Given the description of an element on the screen output the (x, y) to click on. 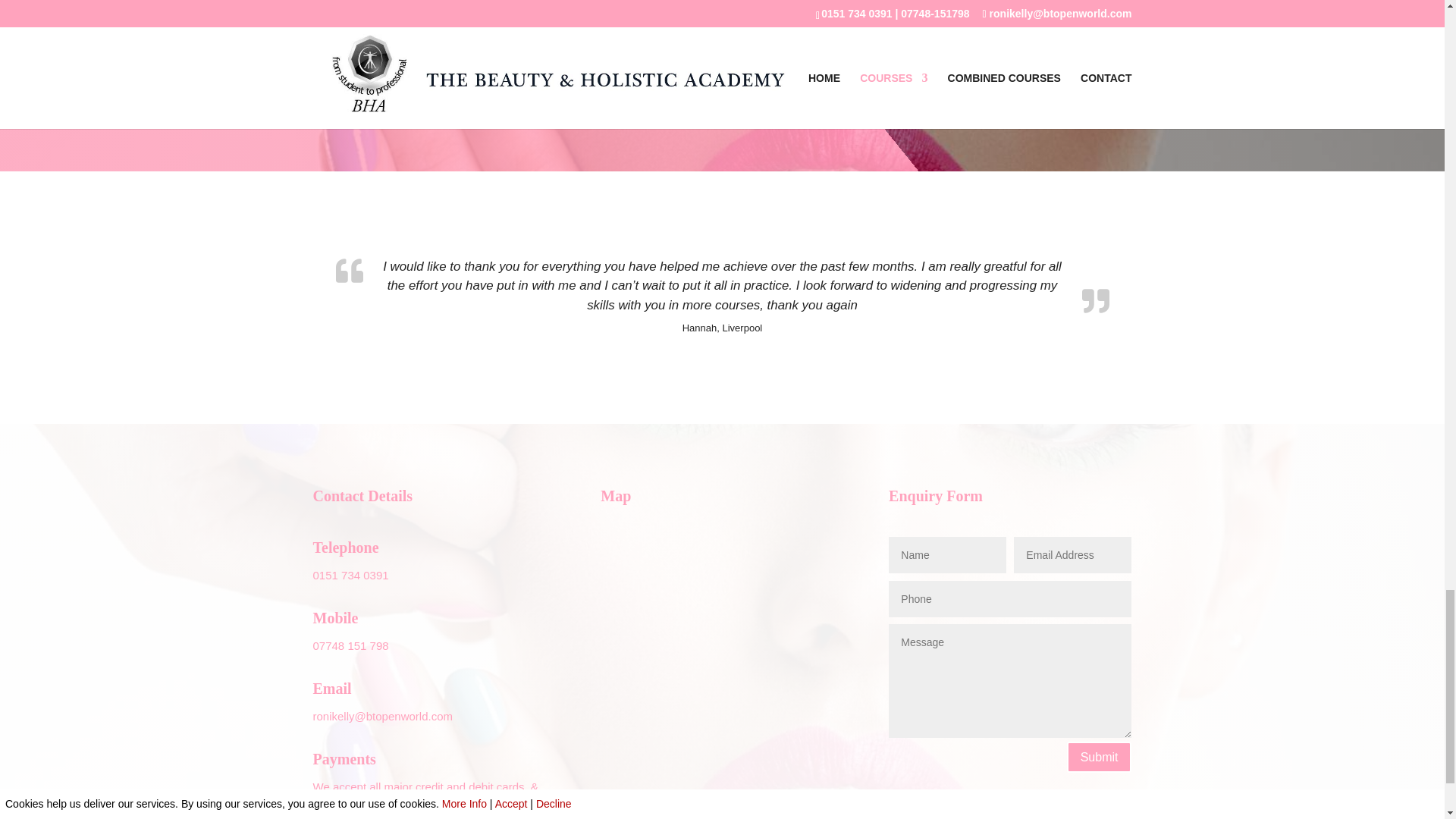
07748 151 798 (350, 645)
Submit (1099, 757)
0151 734 0391 (350, 574)
